Given the description of an element on the screen output the (x, y) to click on. 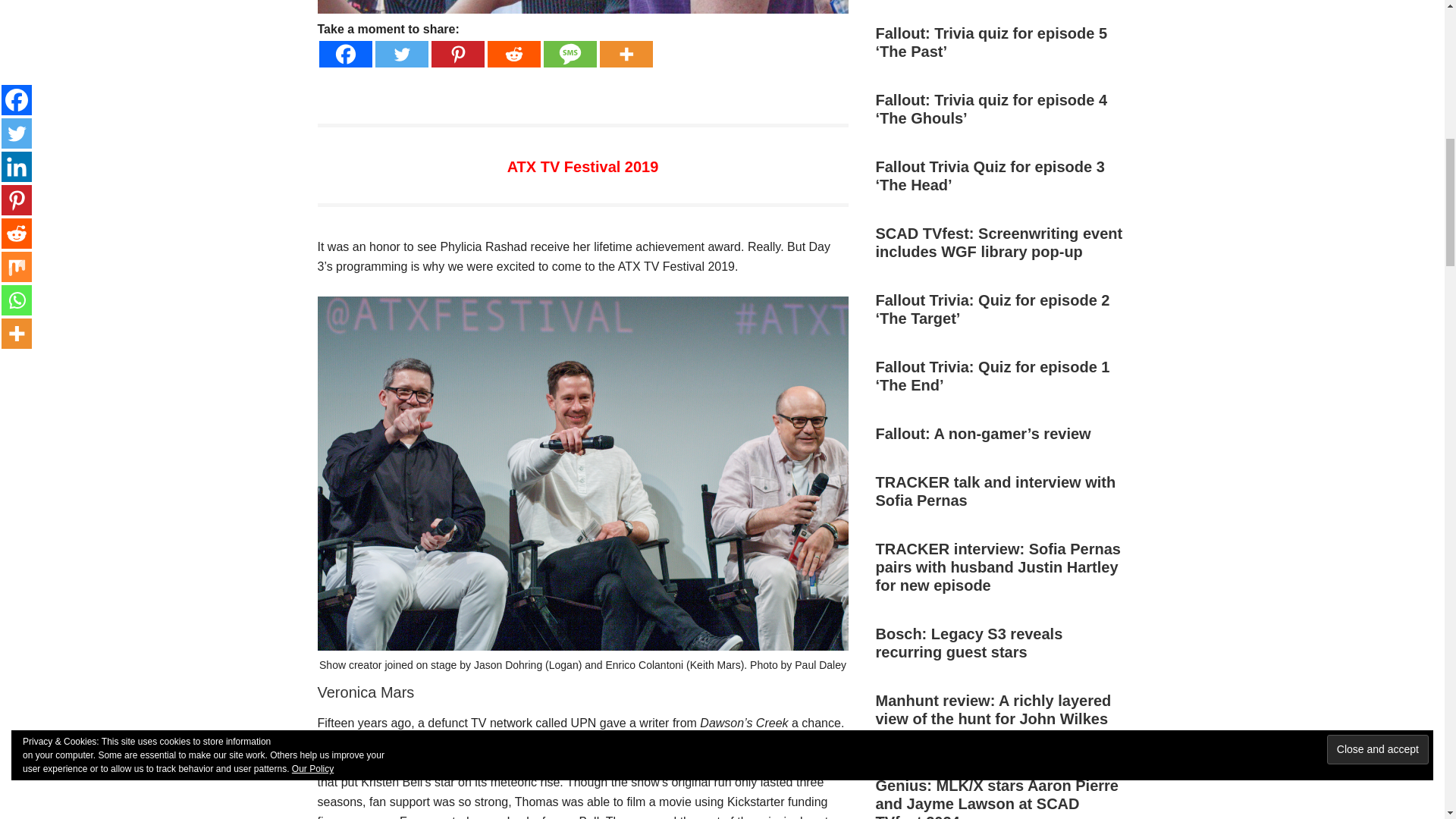
More (625, 53)
SMS (569, 53)
Twitter (401, 53)
Reddit (513, 53)
Facebook (344, 53)
Pinterest (456, 53)
